Given the description of an element on the screen output the (x, y) to click on. 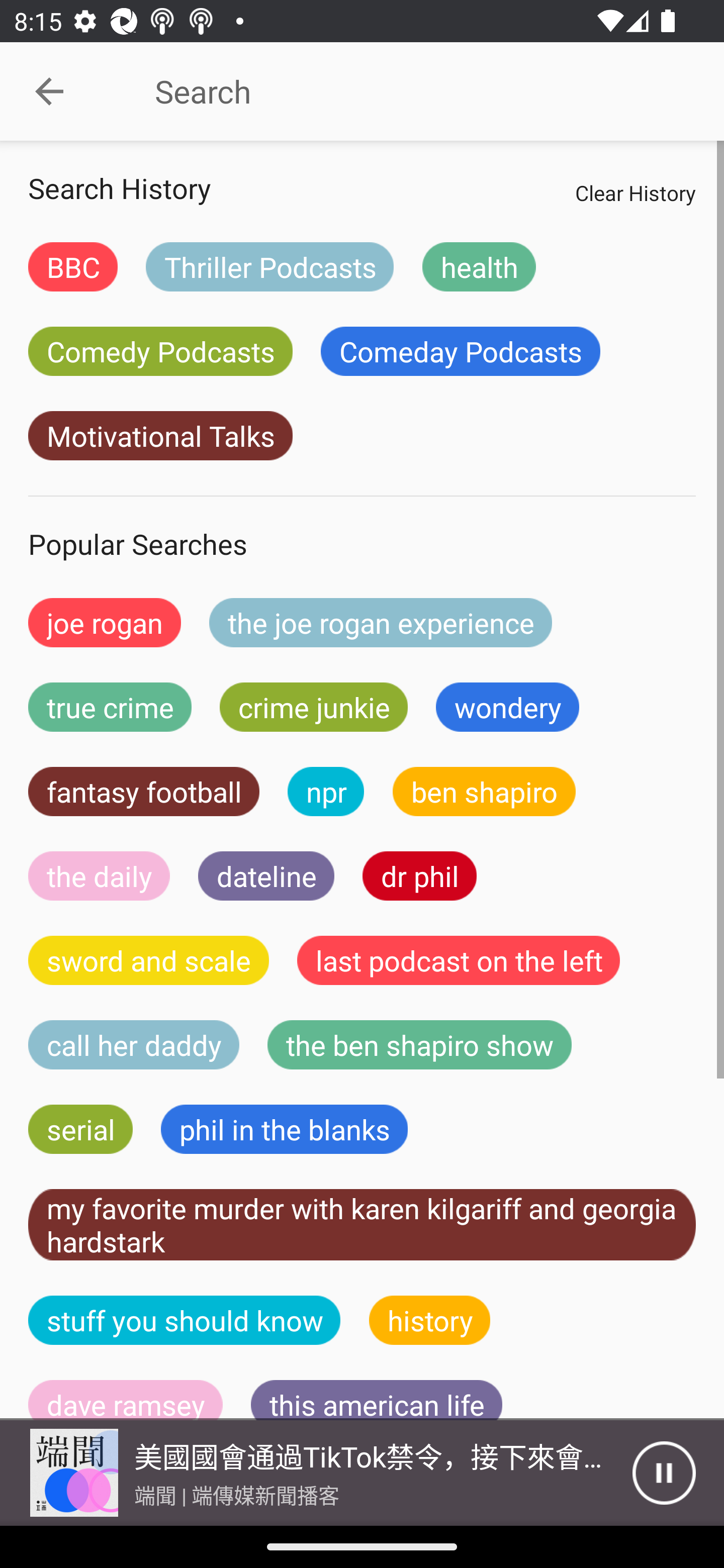
Collapse (49, 91)
Search (407, 91)
Clear History (634, 192)
BBC (72, 266)
Thriller Podcasts (269, 266)
health (478, 266)
Comedy Podcasts (160, 351)
Comeday Podcasts (460, 351)
Motivational Talks (160, 435)
joe rogan (104, 622)
the joe rogan experience (380, 622)
true crime (109, 707)
crime junkie (313, 707)
wondery (507, 707)
fantasy football (143, 791)
npr (325, 791)
ben shapiro (483, 791)
the daily (99, 875)
dateline (266, 875)
dr phil (419, 875)
sword and scale (148, 960)
last podcast on the left (458, 960)
call her daddy (133, 1044)
the ben shapiro show (419, 1044)
serial (80, 1128)
phil in the blanks (283, 1128)
stuff you should know (184, 1320)
history (429, 1320)
dave ramsey (125, 1399)
this american life (376, 1399)
Picture 美國國會通過TikTok禁令，接下來會發生什麼？ 端聞 | 端傳媒新聞播客 (316, 1472)
Pause (663, 1472)
